Given the description of an element on the screen output the (x, y) to click on. 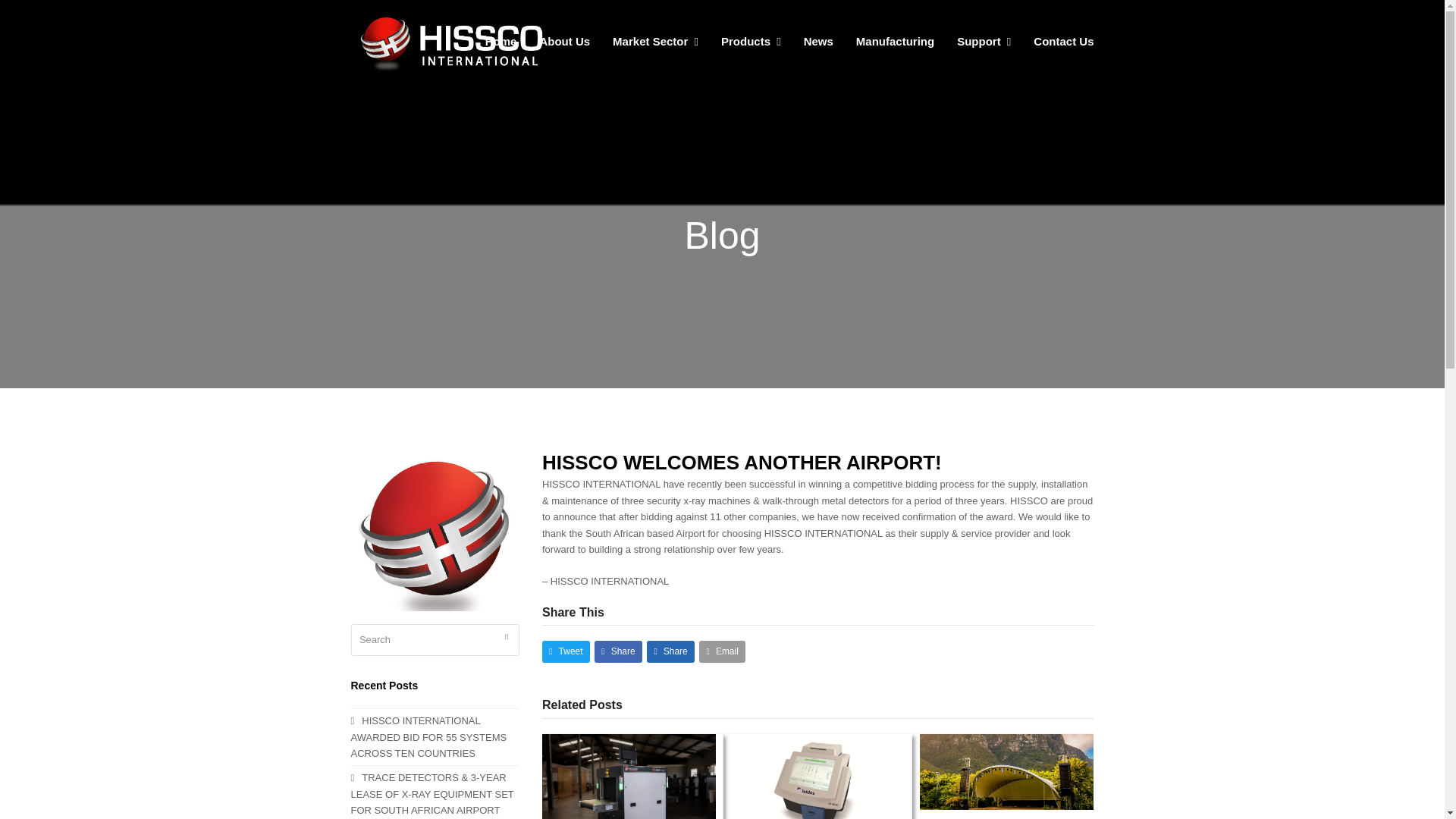
Products (751, 42)
Support (983, 42)
Manufacturing (894, 42)
Market Sector (655, 42)
Contact Us (1063, 42)
Home (501, 42)
News (818, 42)
About Us (564, 42)
